Given the description of an element on the screen output the (x, y) to click on. 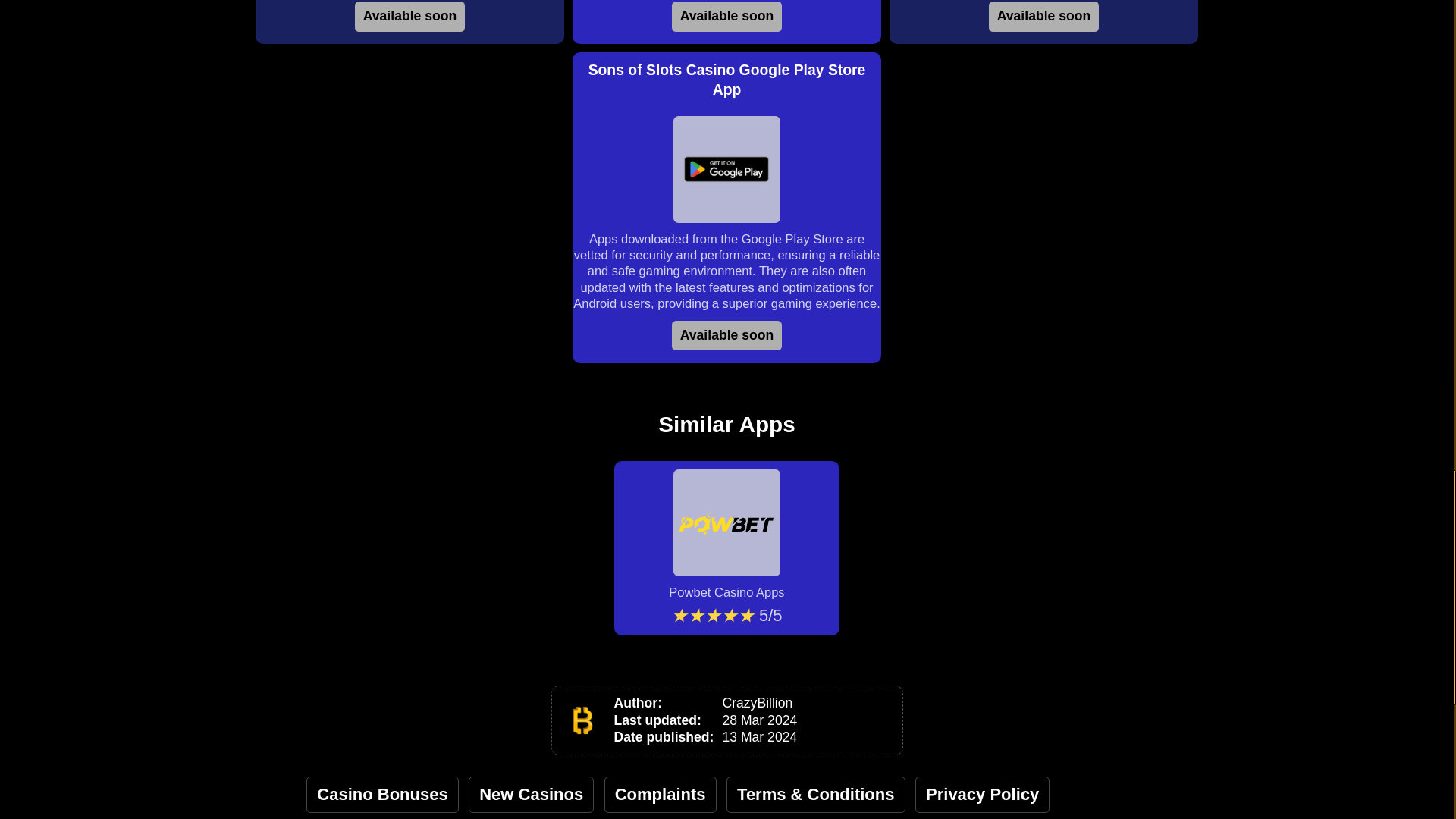
Powbet Casino Apps (727, 534)
